Given the description of an element on the screen output the (x, y) to click on. 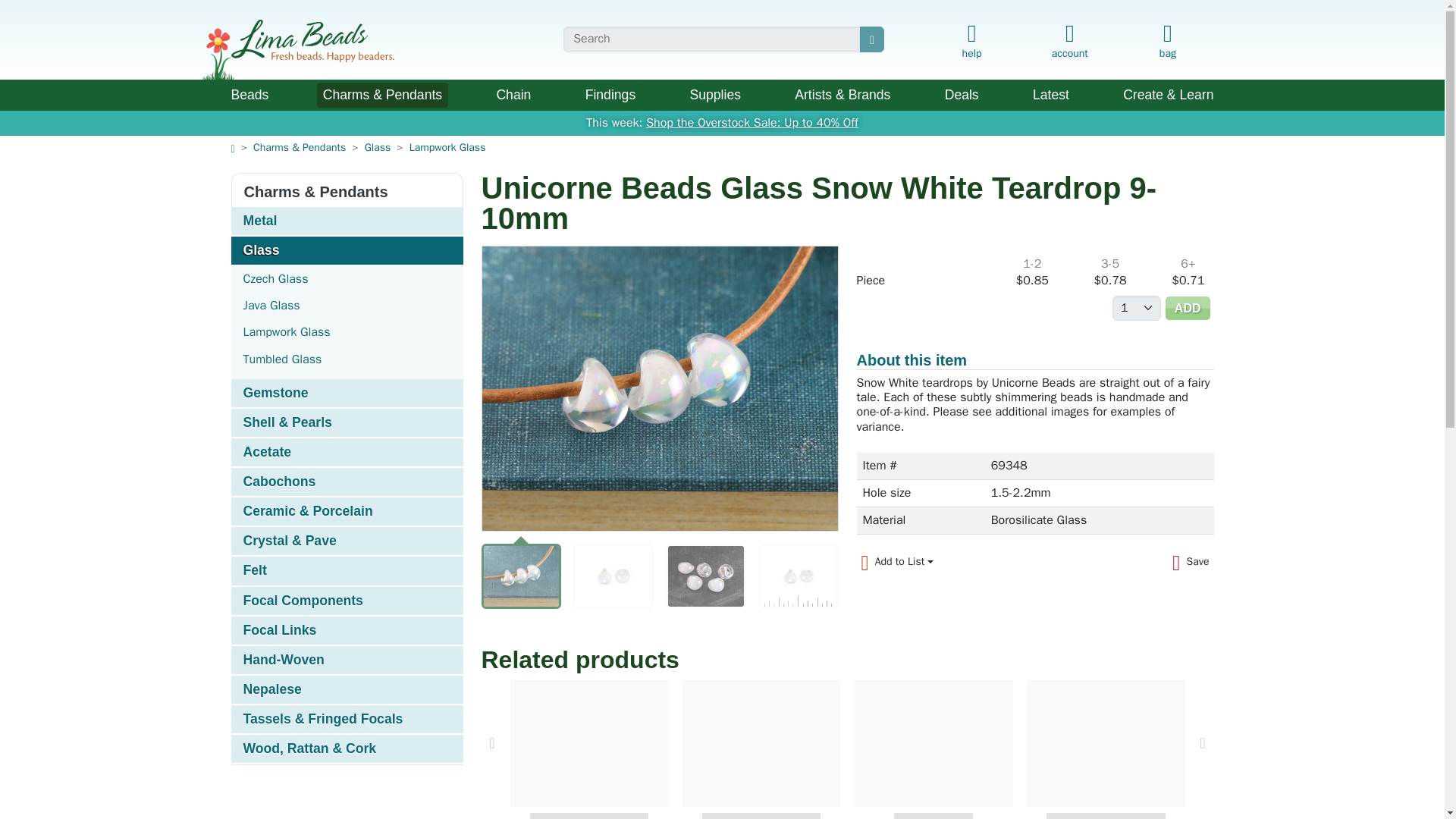
Beads (249, 94)
account (1069, 38)
help (971, 42)
bag (1166, 42)
